Given the description of an element on the screen output the (x, y) to click on. 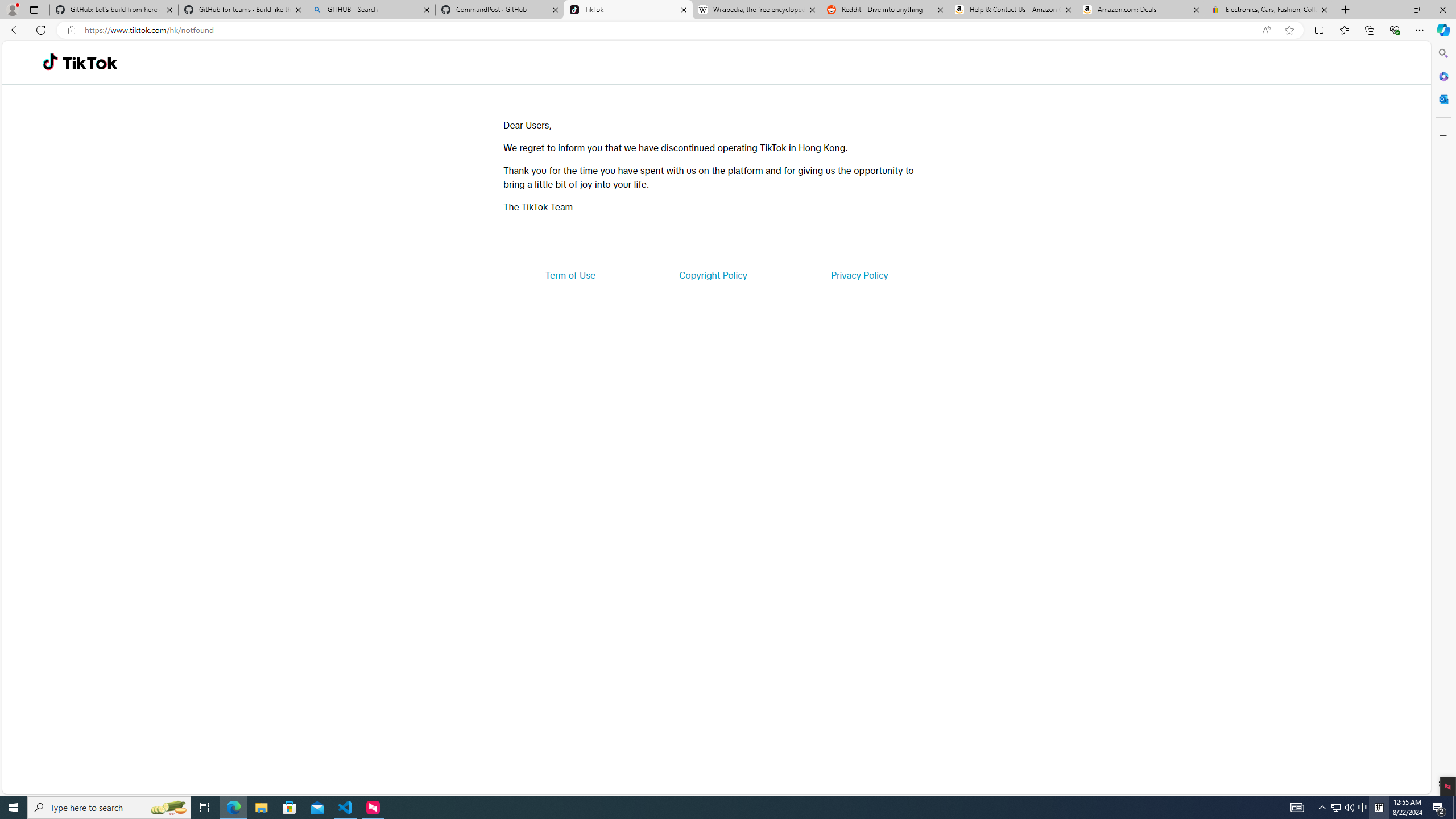
GITHUB - Search (370, 9)
TikTok (89, 62)
